Given the description of an element on the screen output the (x, y) to click on. 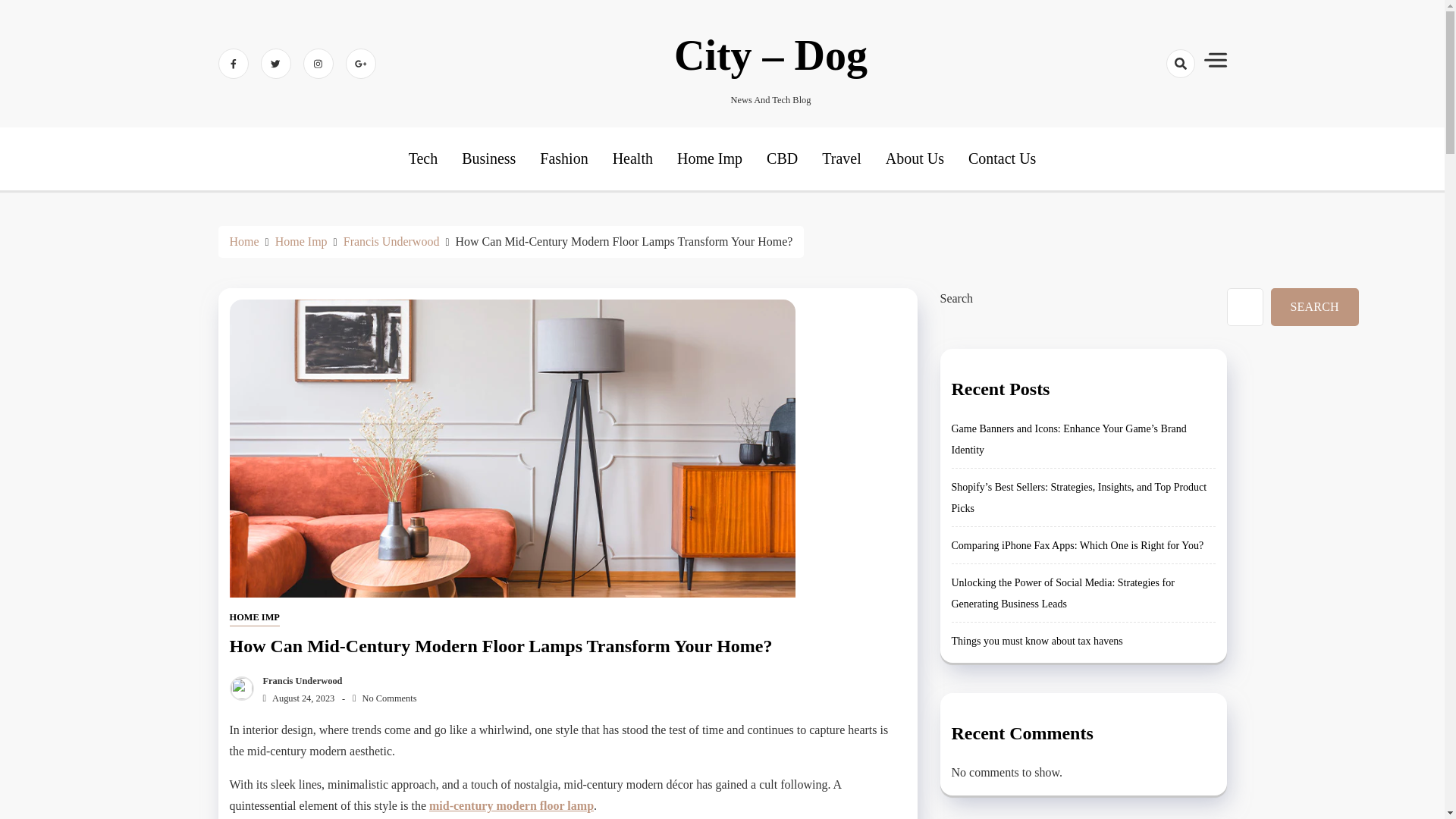
mid-century modern floor lamp (511, 805)
Francis Underwood (391, 241)
Home (243, 241)
Home Imp (709, 158)
HOME IMP (253, 618)
About Us (914, 158)
No Comments (384, 697)
Contact Us (1001, 158)
Search (1152, 117)
Home Imp (301, 241)
Francis Underwood (299, 680)
August 24, 2023 (295, 697)
